Given the description of an element on the screen output the (x, y) to click on. 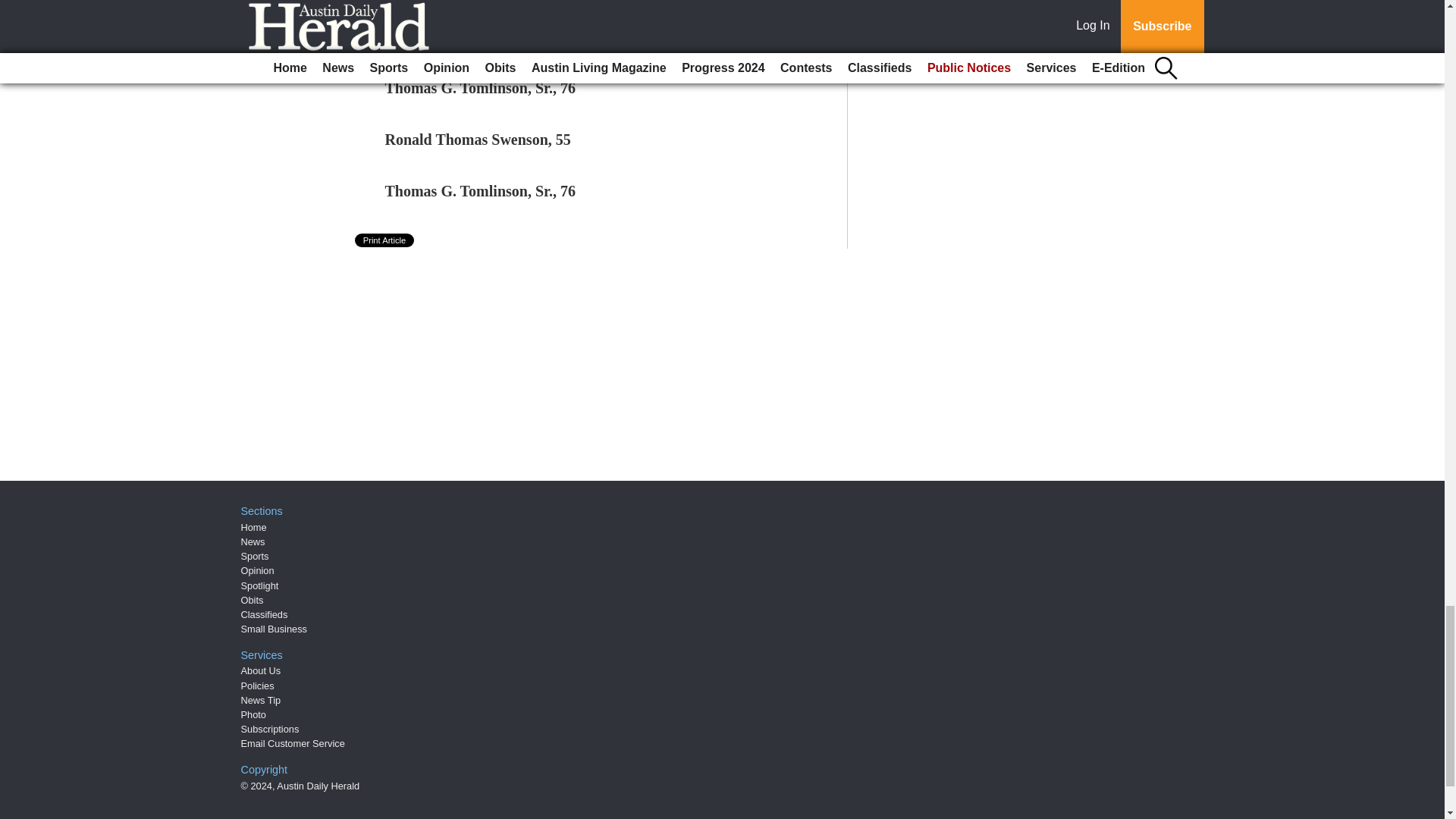
Ronald Thomas Swenson, 55 (477, 139)
054843-F1 (418, 36)
Thomas G. Tomlinson, Sr., 76 (480, 190)
Thomas G. Tomlinson, Sr., 76 (480, 87)
